Given the description of an element on the screen output the (x, y) to click on. 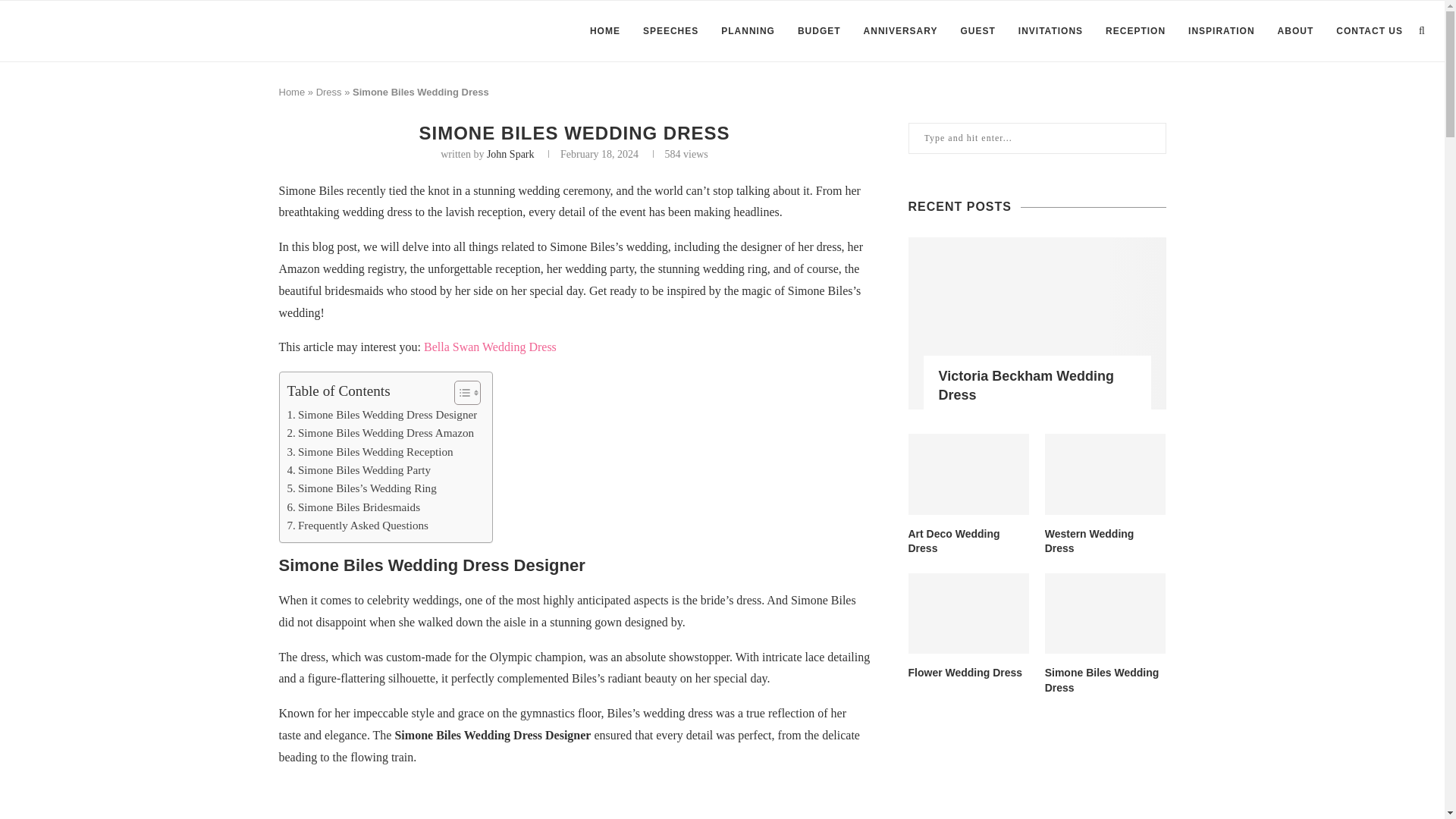
Flower Wedding Dress (968, 672)
Simone Biles Wedding Reception (369, 452)
Western Wedding Dress (1105, 541)
Dress (328, 91)
Western Wedding Dress (1105, 474)
Simone Biles Wedding Party (358, 470)
Frequently Asked Questions (357, 525)
Simone Biles Wedding Dress Amazon (380, 433)
SPEECHES (670, 30)
Simone Biles Bridesmaids (353, 506)
